Given the description of an element on the screen output the (x, y) to click on. 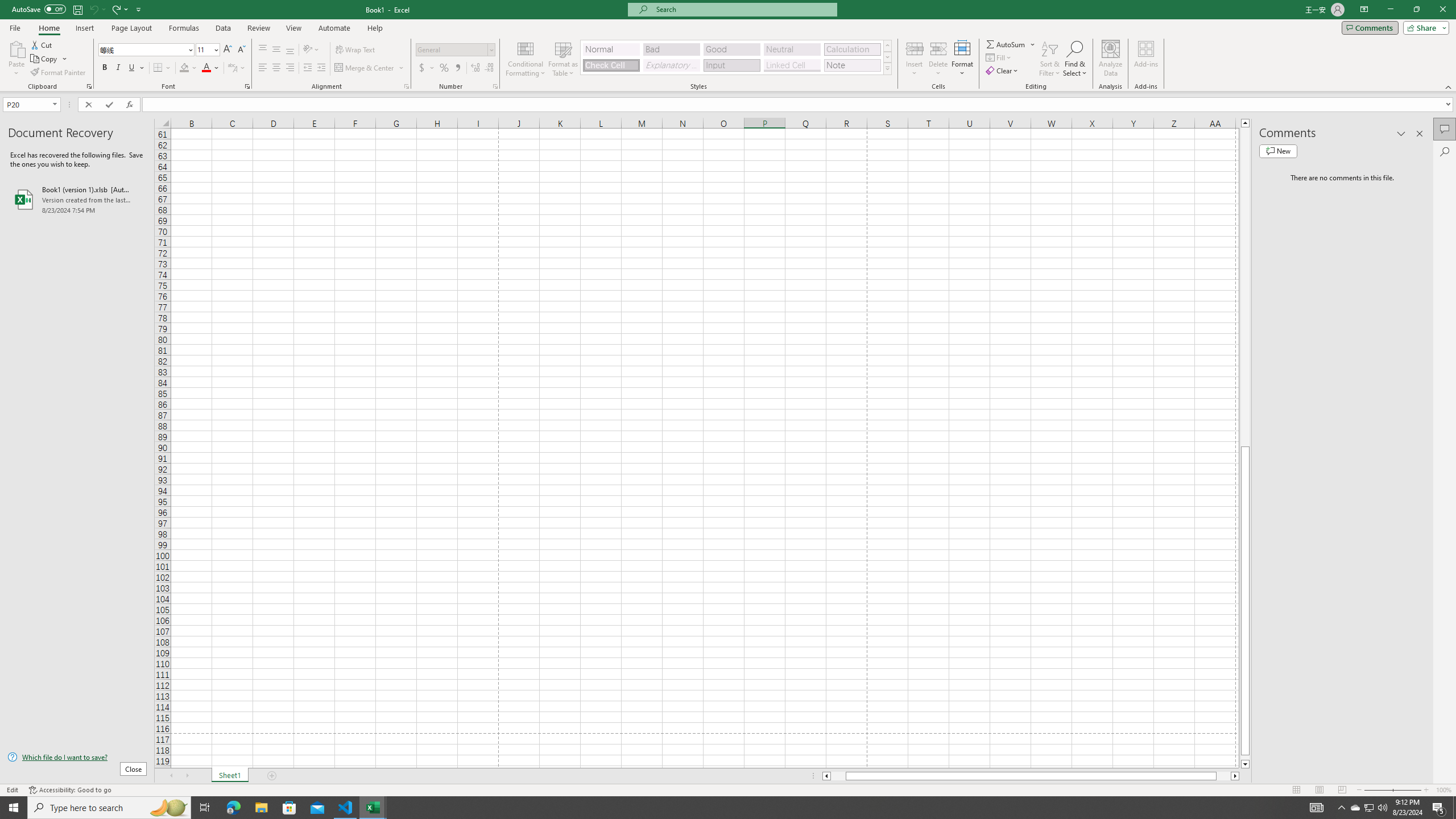
Middle Align (276, 49)
Format Cell Number (494, 85)
Center (276, 67)
Fill (999, 56)
Merge & Center (365, 67)
Insert Cells (914, 48)
Format as Table (563, 58)
Copy (45, 58)
